Given the description of an element on the screen output the (x, y) to click on. 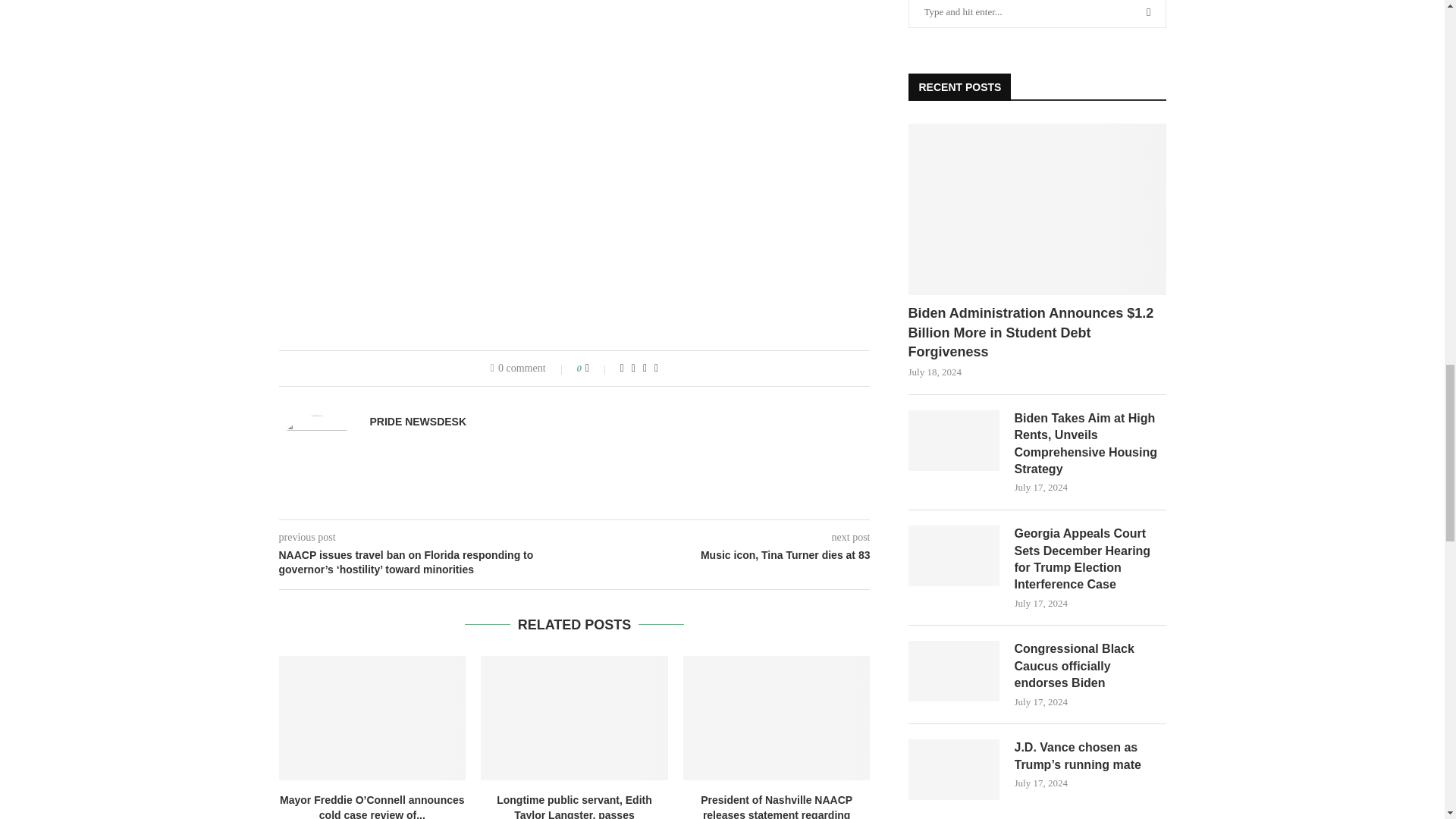
Like (597, 368)
Longtime public servant, Edith Taylor Langster, passes (574, 718)
Author PRIDE Newsdesk (418, 421)
